Given the description of an element on the screen output the (x, y) to click on. 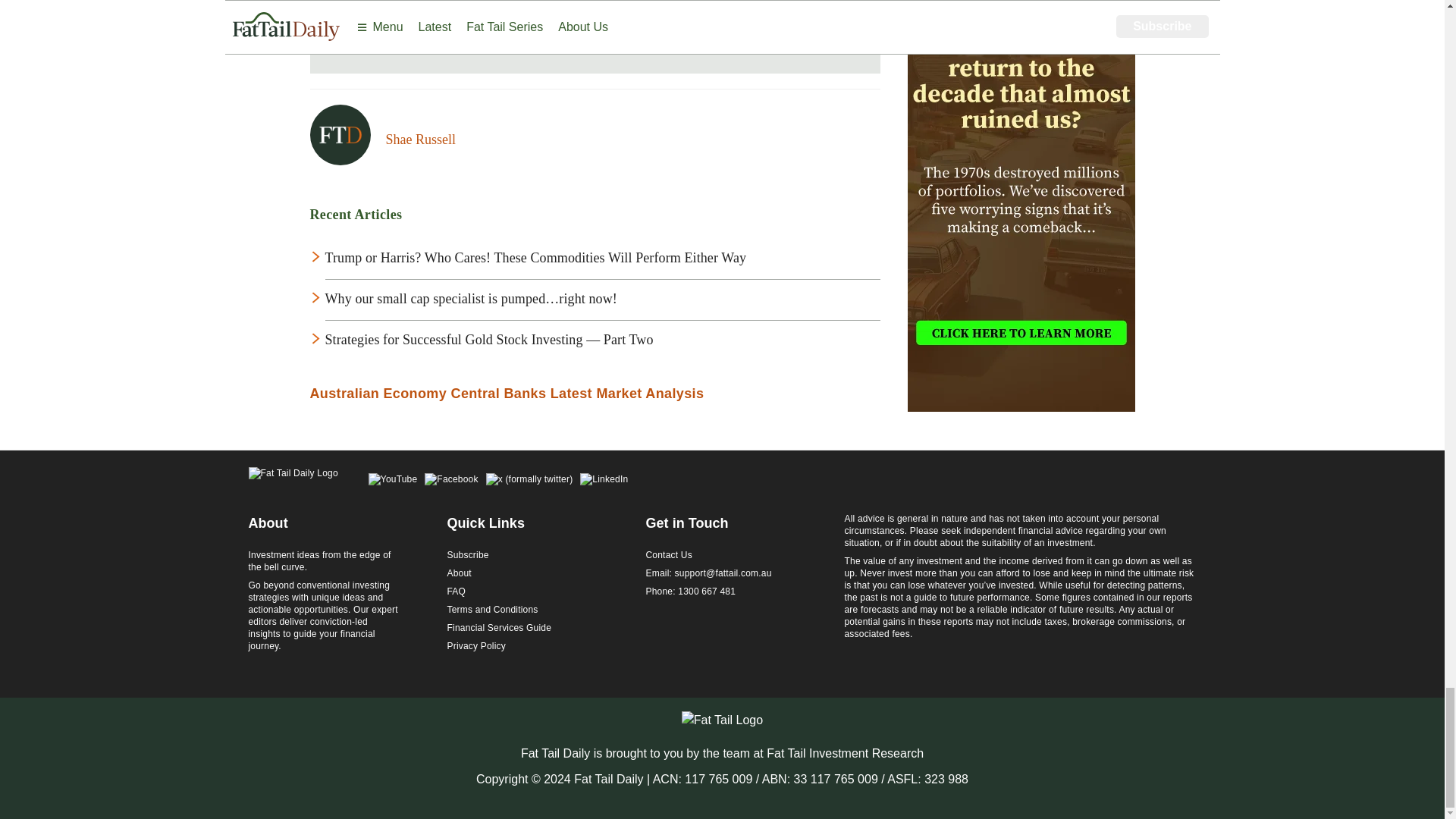
editor (420, 139)
Fat Tail Daily Home (292, 480)
